Given the description of an element on the screen output the (x, y) to click on. 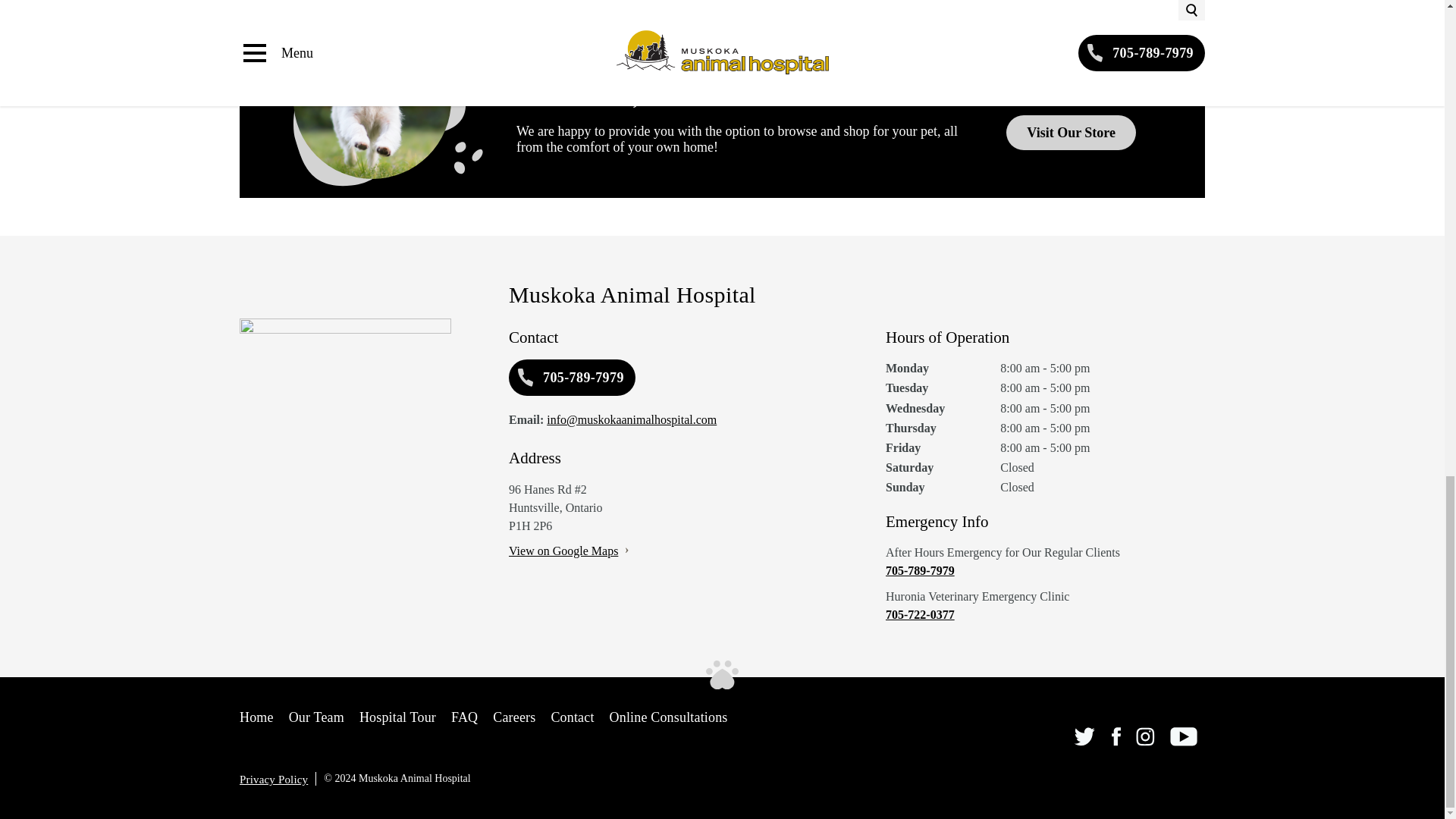
705-789-7979 (1045, 570)
View on Google Maps (562, 550)
Visit Our Store (1070, 132)
705-789-7979 (571, 377)
705-789-7979 (1071, 91)
705-722-0377 (1045, 615)
